Given the description of an element on the screen output the (x, y) to click on. 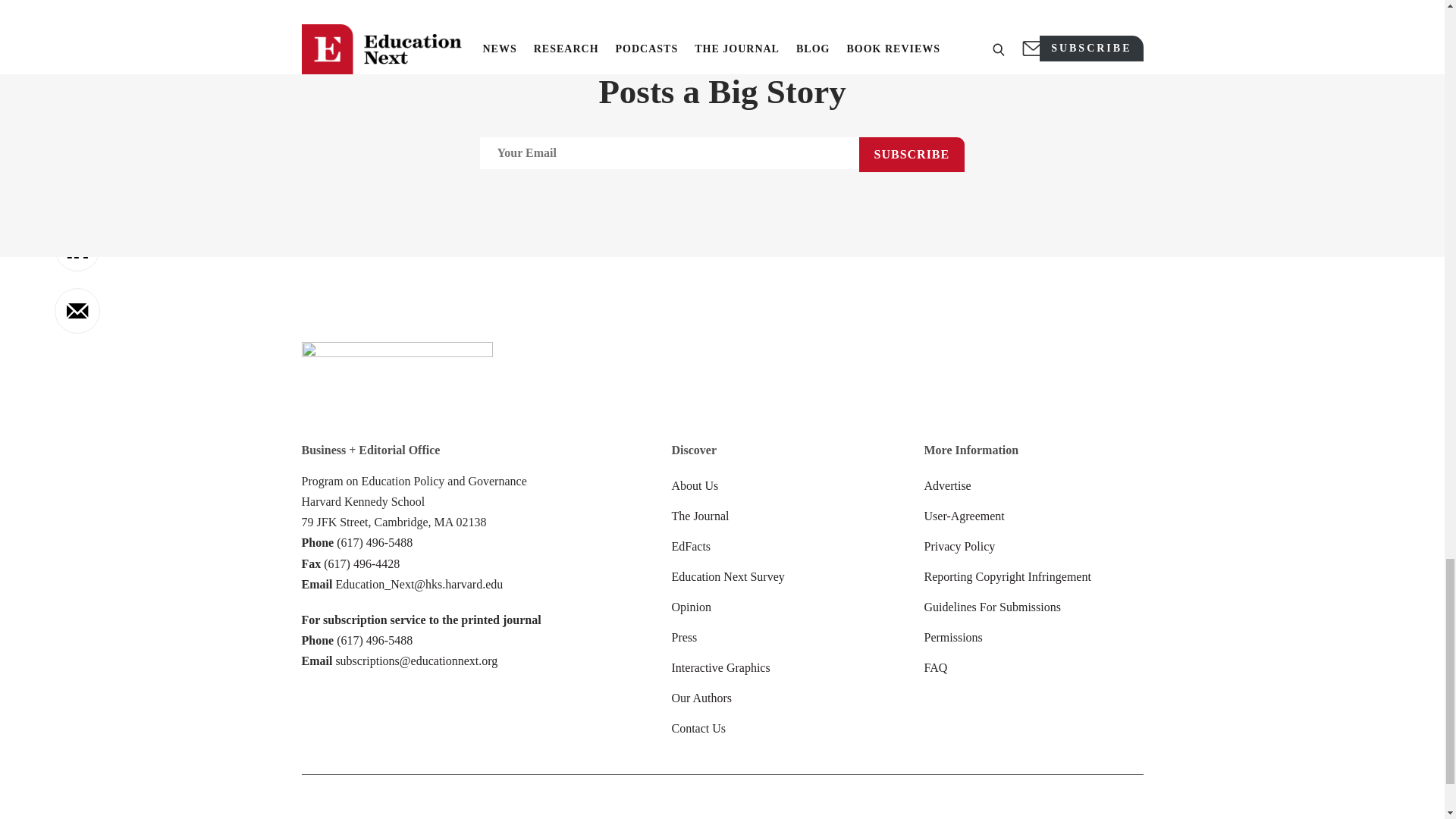
SUBSCRIBE (911, 154)
